Given the description of an element on the screen output the (x, y) to click on. 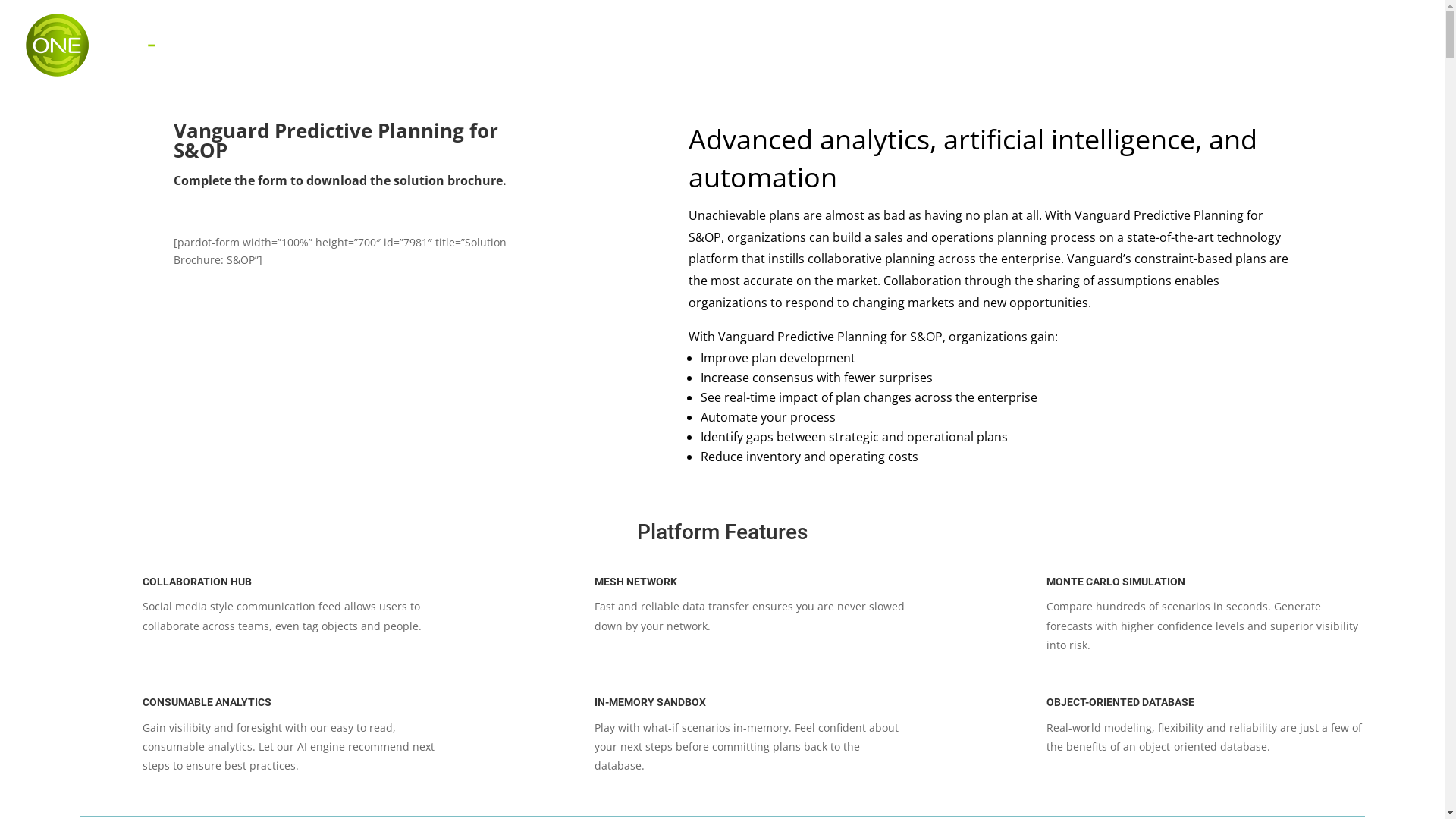
Services Element type: text (1307, 64)
Home Element type: text (1149, 64)
Contact Us Element type: text (1387, 64)
Who we are Element type: text (1224, 64)
